Given the description of an element on the screen output the (x, y) to click on. 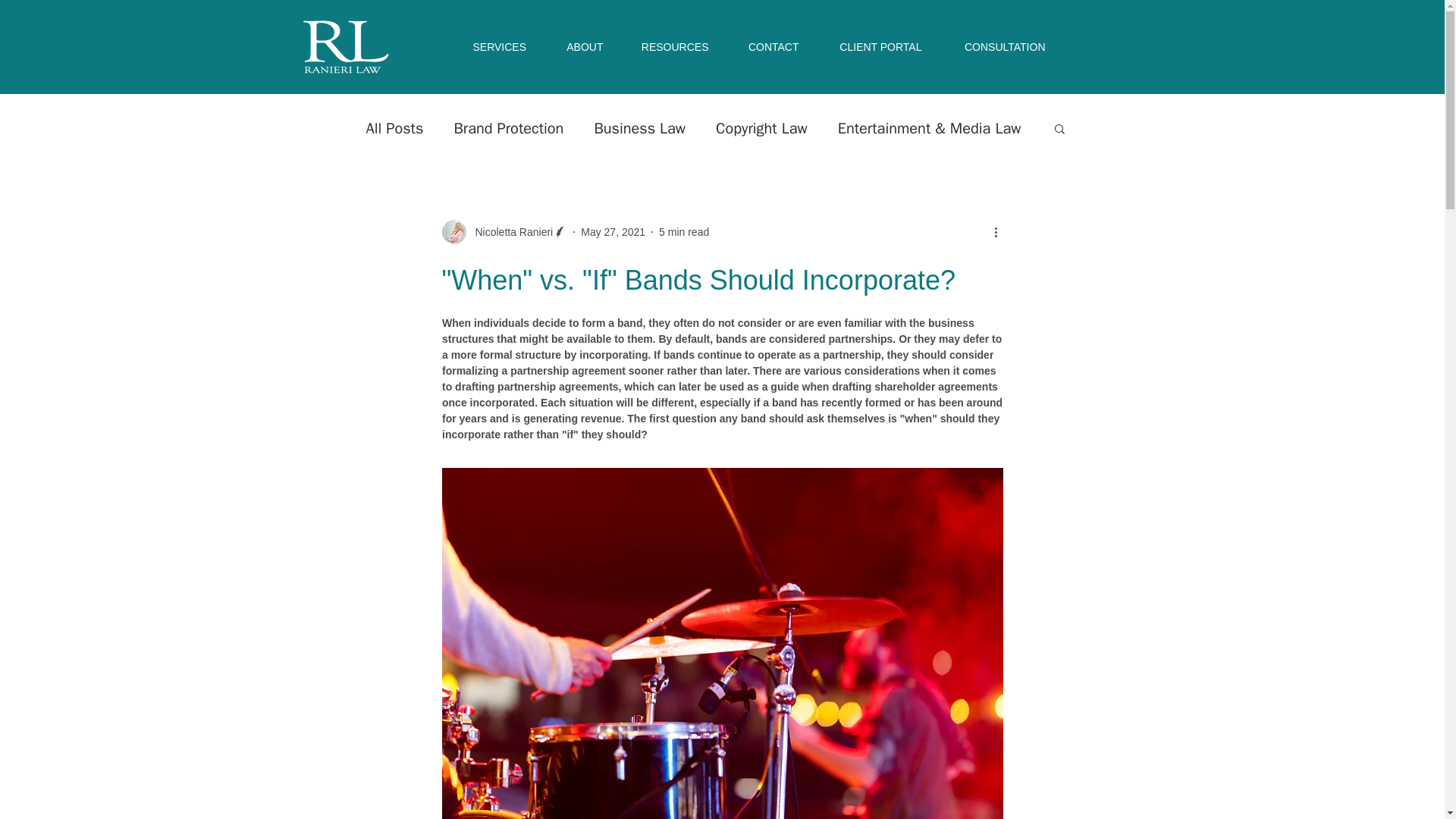
5 min read (684, 232)
Brand Protection (507, 127)
RESOURCES (673, 46)
Copyright Law (762, 127)
Business Law (639, 127)
ABOUT (582, 46)
SERVICES (498, 46)
CLIENT PORTAL (878, 46)
Nicoletta Ranieri (504, 232)
CONSULTATION (1002, 46)
